Given the description of an element on the screen output the (x, y) to click on. 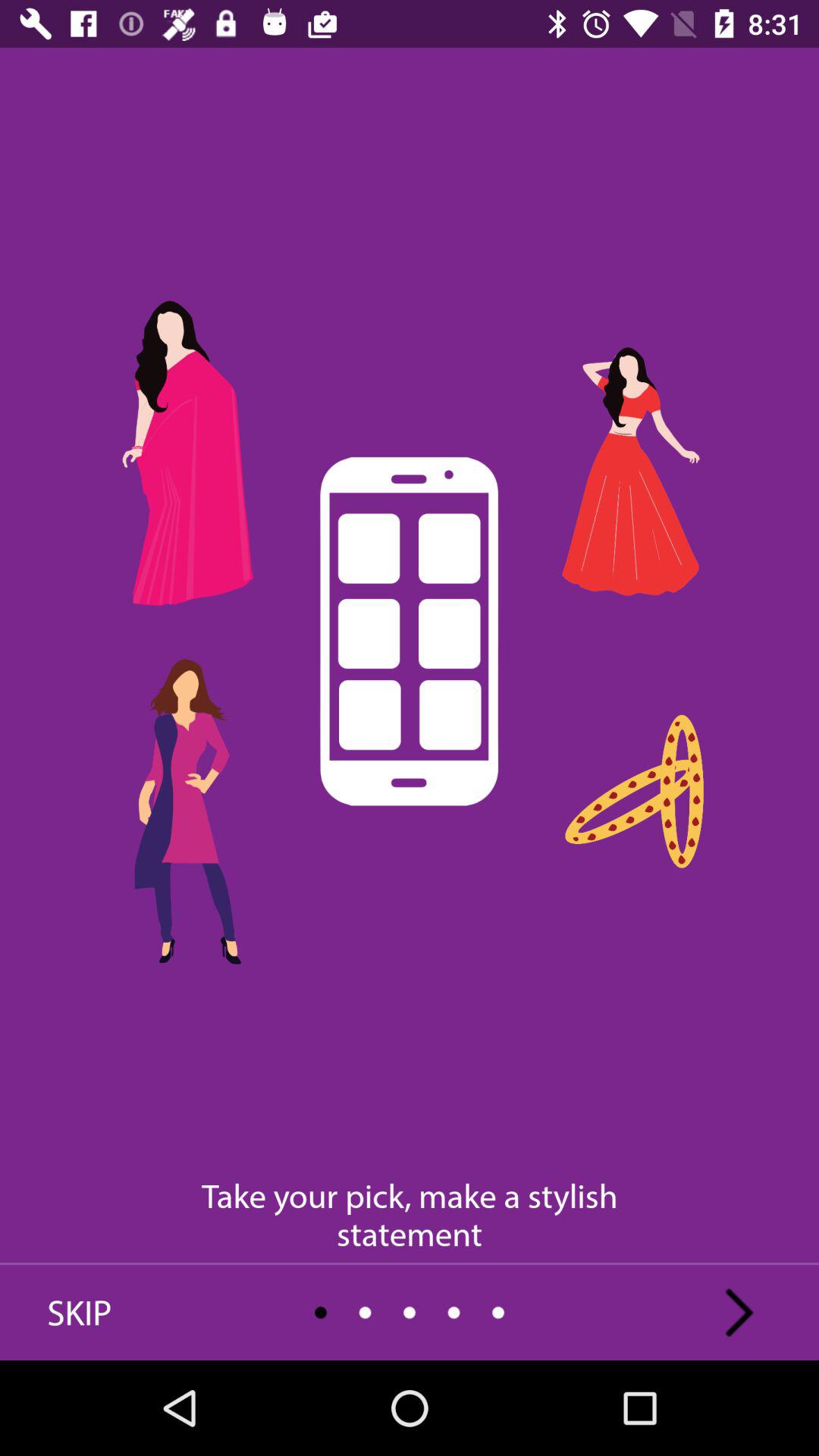
press icon at the bottom left corner (79, 1312)
